Given the description of an element on the screen output the (x, y) to click on. 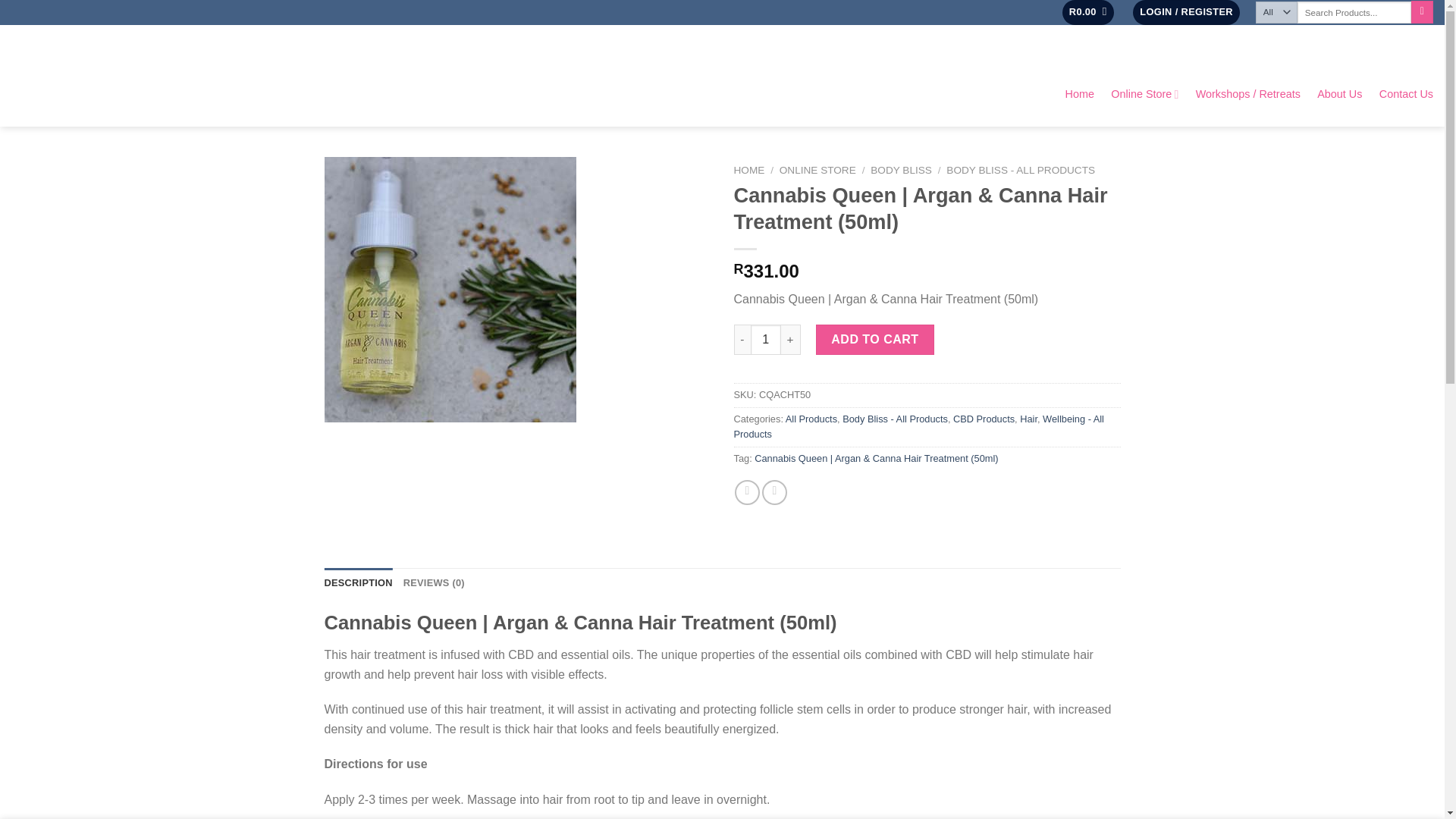
1 (765, 339)
Online Store (1143, 94)
Share on Facebook (747, 492)
R0.00 (1087, 12)
Cart (1087, 12)
CQ Argan-Hair-Treatment-30ML (450, 289)
Search (1421, 11)
Email to a Friend (774, 492)
